Given the description of an element on the screen output the (x, y) to click on. 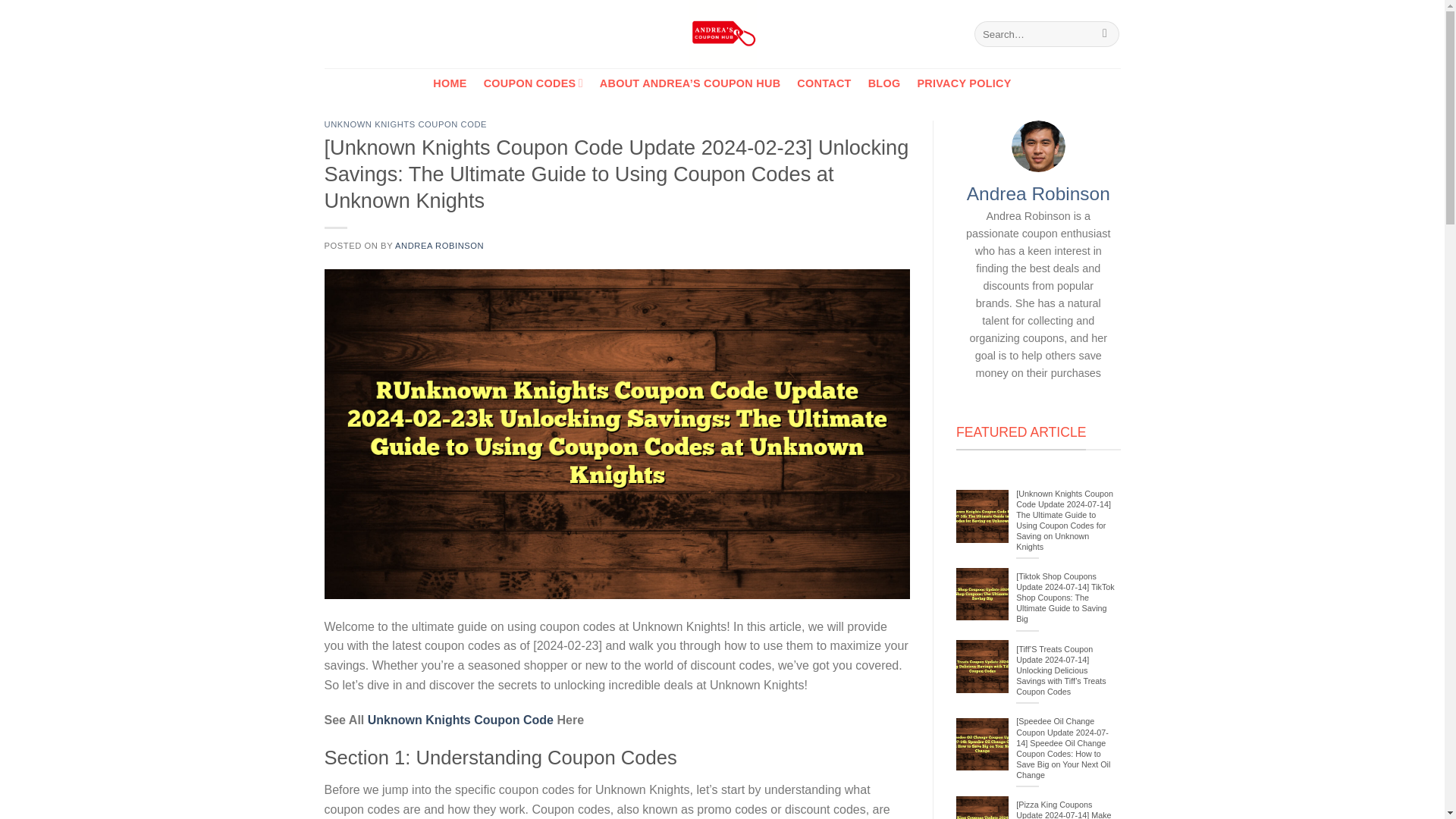
HOME (448, 83)
CONTACT (823, 83)
Unknown Knights Coupon Code (460, 719)
ANDREA ROBINSON (438, 245)
UNKNOWN KNIGHTS COUPON CODE (405, 123)
COUPON CODES (533, 82)
PRIVACY POLICY (963, 83)
BLOG (884, 83)
